Given the description of an element on the screen output the (x, y) to click on. 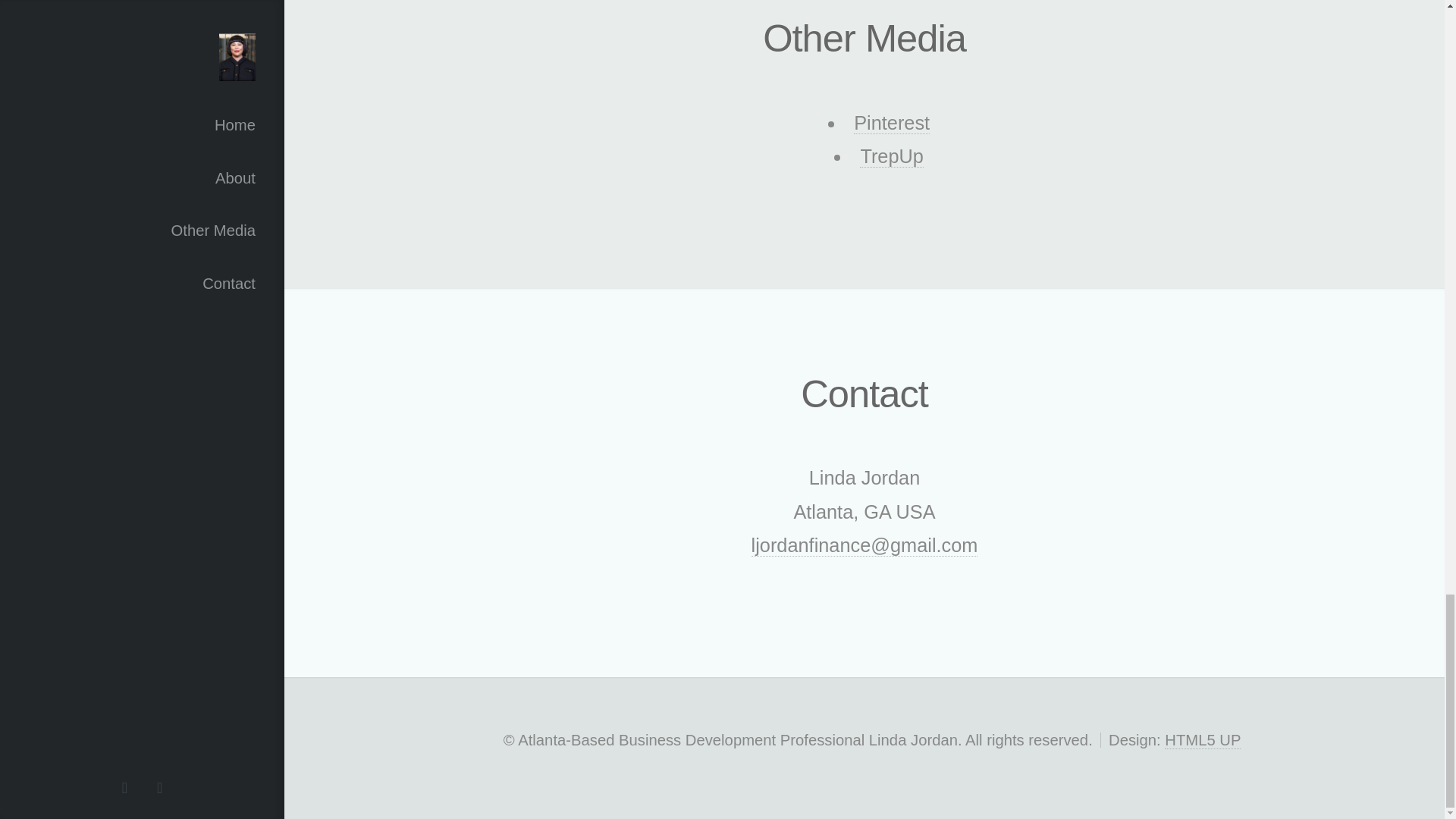
TrepUp (891, 156)
TrepUp (891, 156)
HTML5 UP (1202, 740)
Pinterest (891, 123)
Pinterest (891, 123)
